Given the description of an element on the screen output the (x, y) to click on. 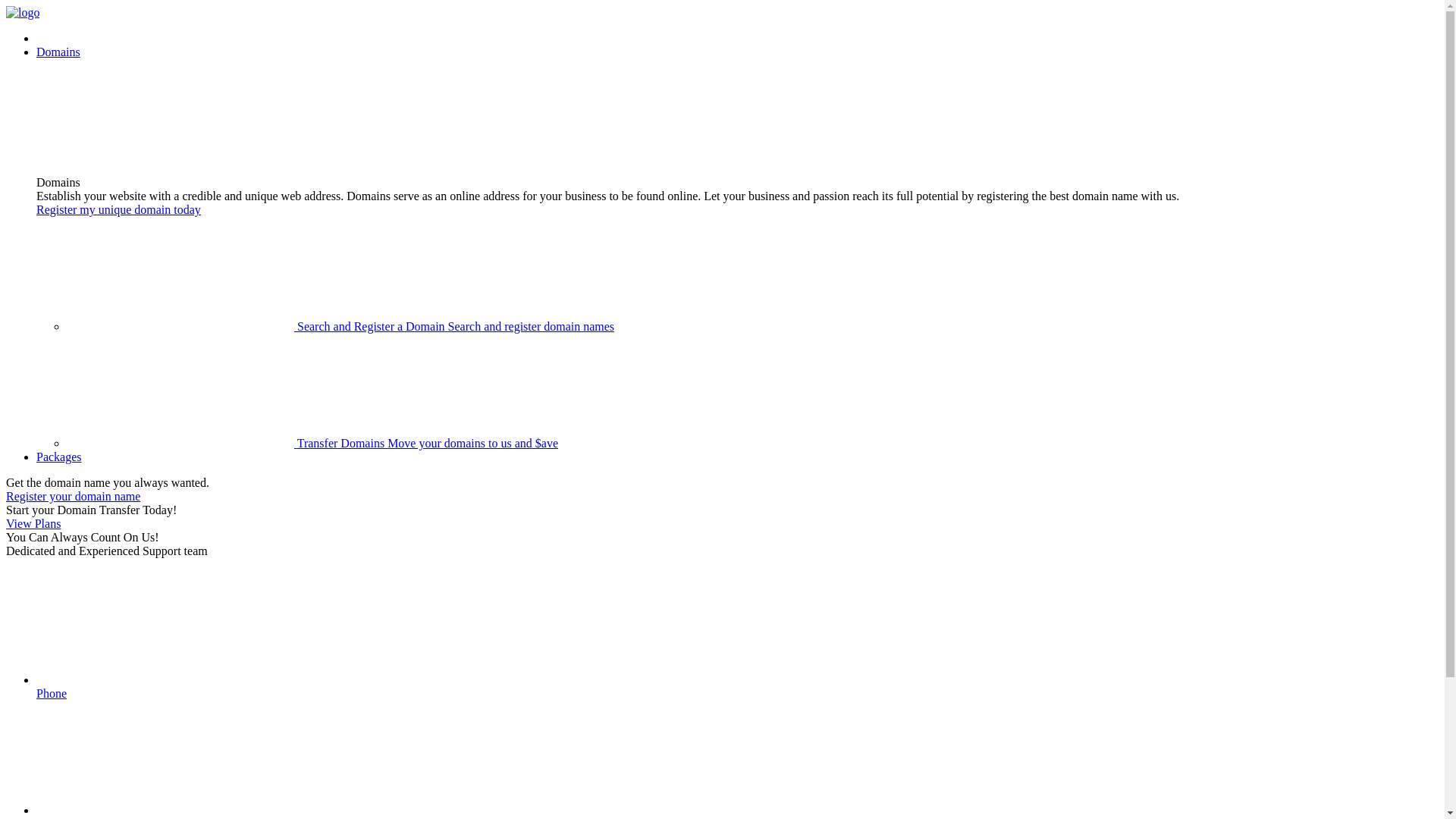
Register your domain name Element type: text (73, 495)
View Plans Element type: text (33, 523)
Transfer Domains Move your domains to us and $ave Element type: text (312, 442)
Phone Element type: text (737, 635)
Register my unique domain today Element type: text (118, 209)
Domains Element type: text (58, 51)
Packages Element type: text (58, 456)
